Given the description of an element on the screen output the (x, y) to click on. 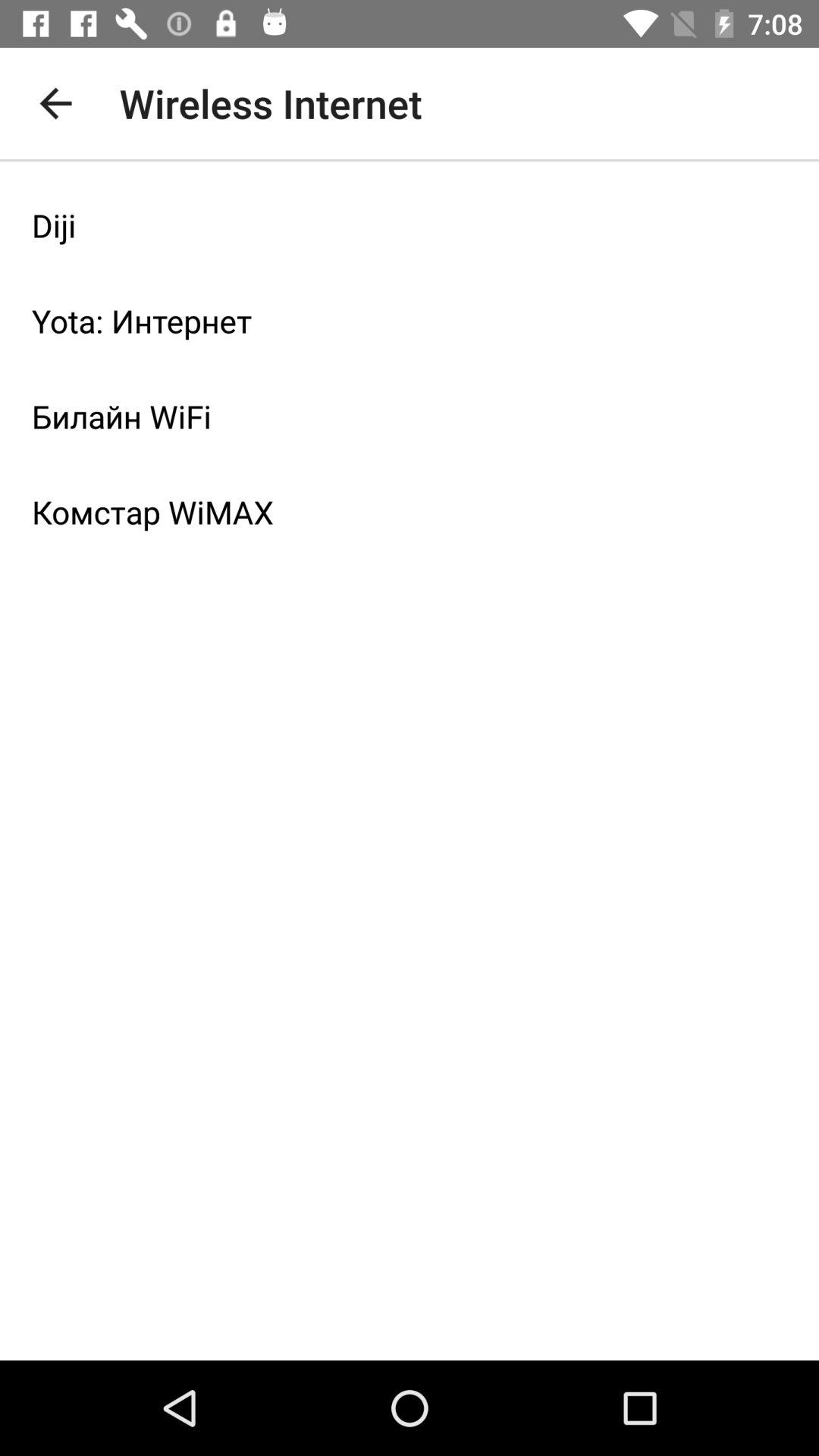
flip to diji icon (409, 225)
